Given the description of an element on the screen output the (x, y) to click on. 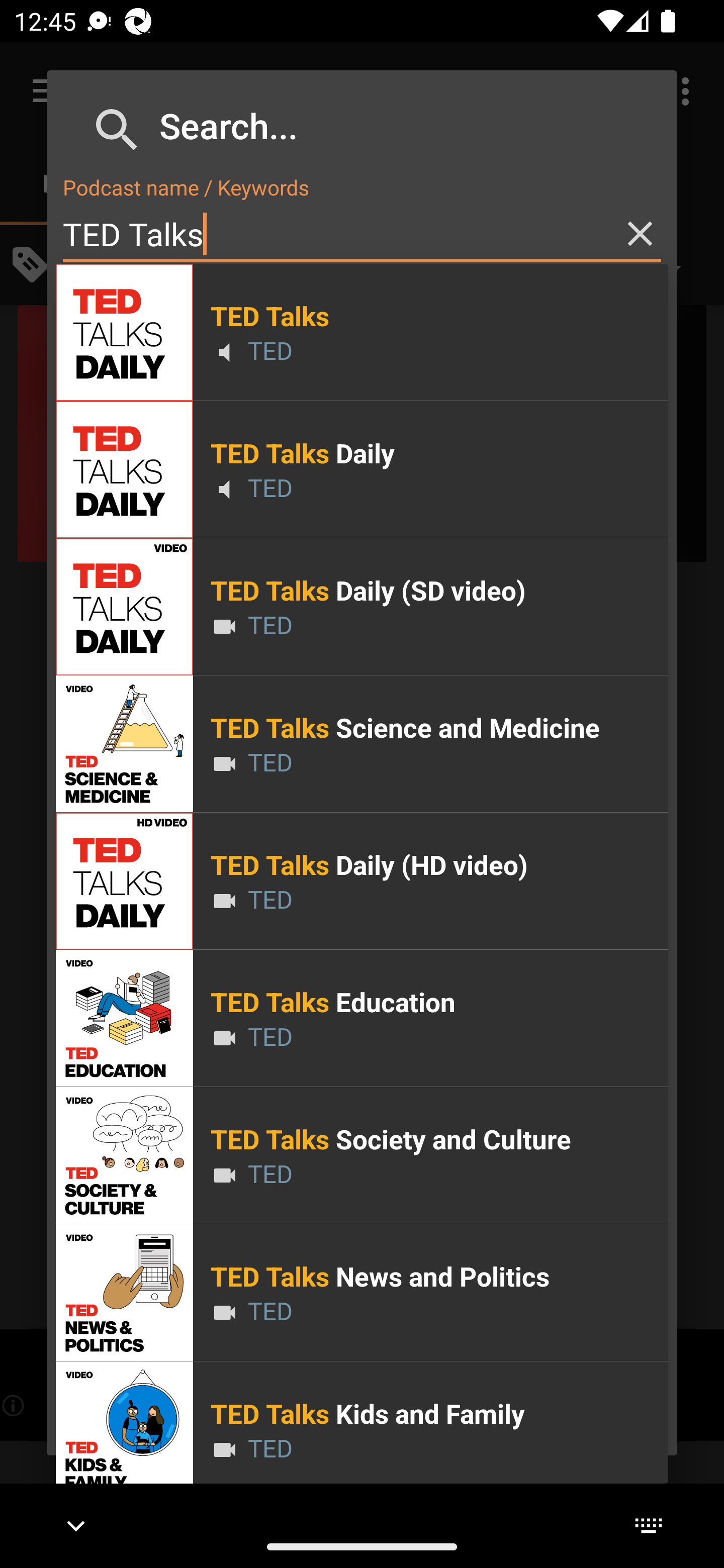
TED Talks (361, 234)
